Given the description of an element on the screen output the (x, y) to click on. 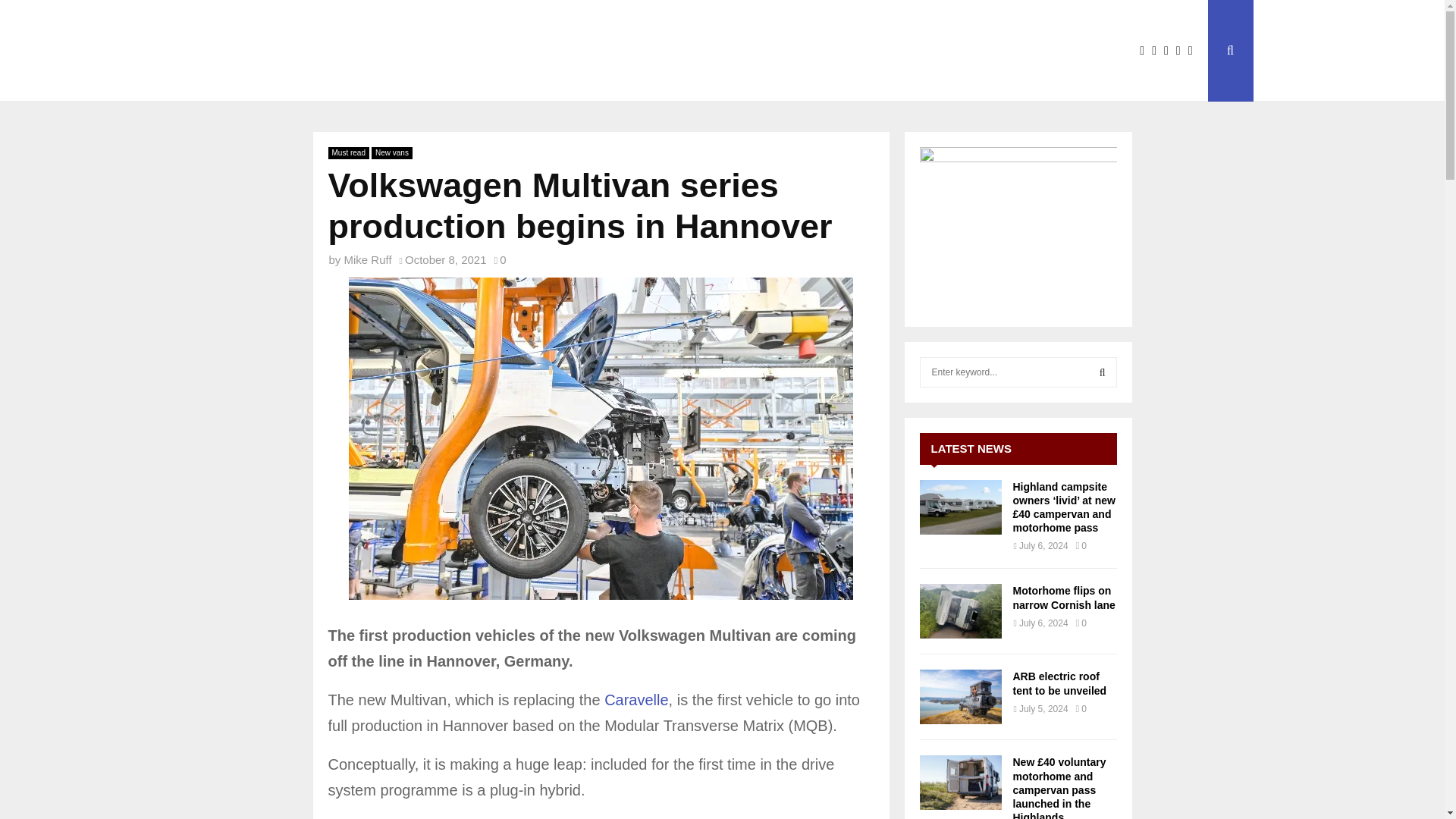
Van Life Matters (289, 54)
HOME (439, 22)
